Given the description of an element on the screen output the (x, y) to click on. 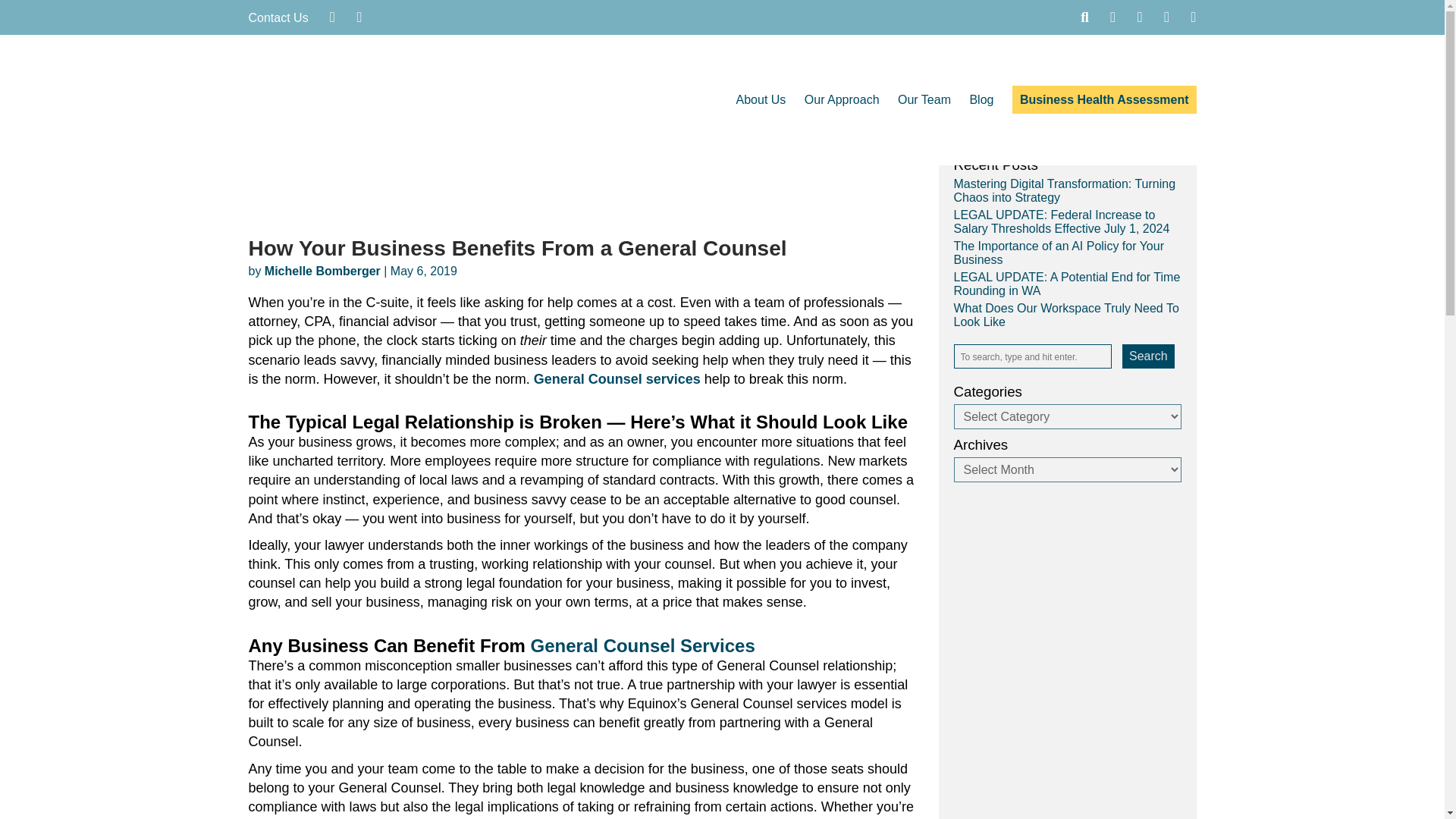
Contact Us (278, 17)
How Your Business Benefits From a General Counsel (517, 248)
Sign Up for our Newsletter (1057, 133)
The Importance of an AI Policy for Your Business (1058, 252)
How Your Business Benefits From a General Counsel (593, 205)
How Your Business Benefits From a General Counsel (517, 248)
Blog (980, 99)
Posts by Michelle Bomberger (322, 270)
General Counsel Services (643, 645)
LEGAL UPDATE: A Potential End for Time Rounding in WA (1066, 284)
General Counsel services (617, 378)
Business Health Assessment (1103, 99)
Our Approach (842, 99)
Michelle Bomberger (322, 270)
